Given the description of an element on the screen output the (x, y) to click on. 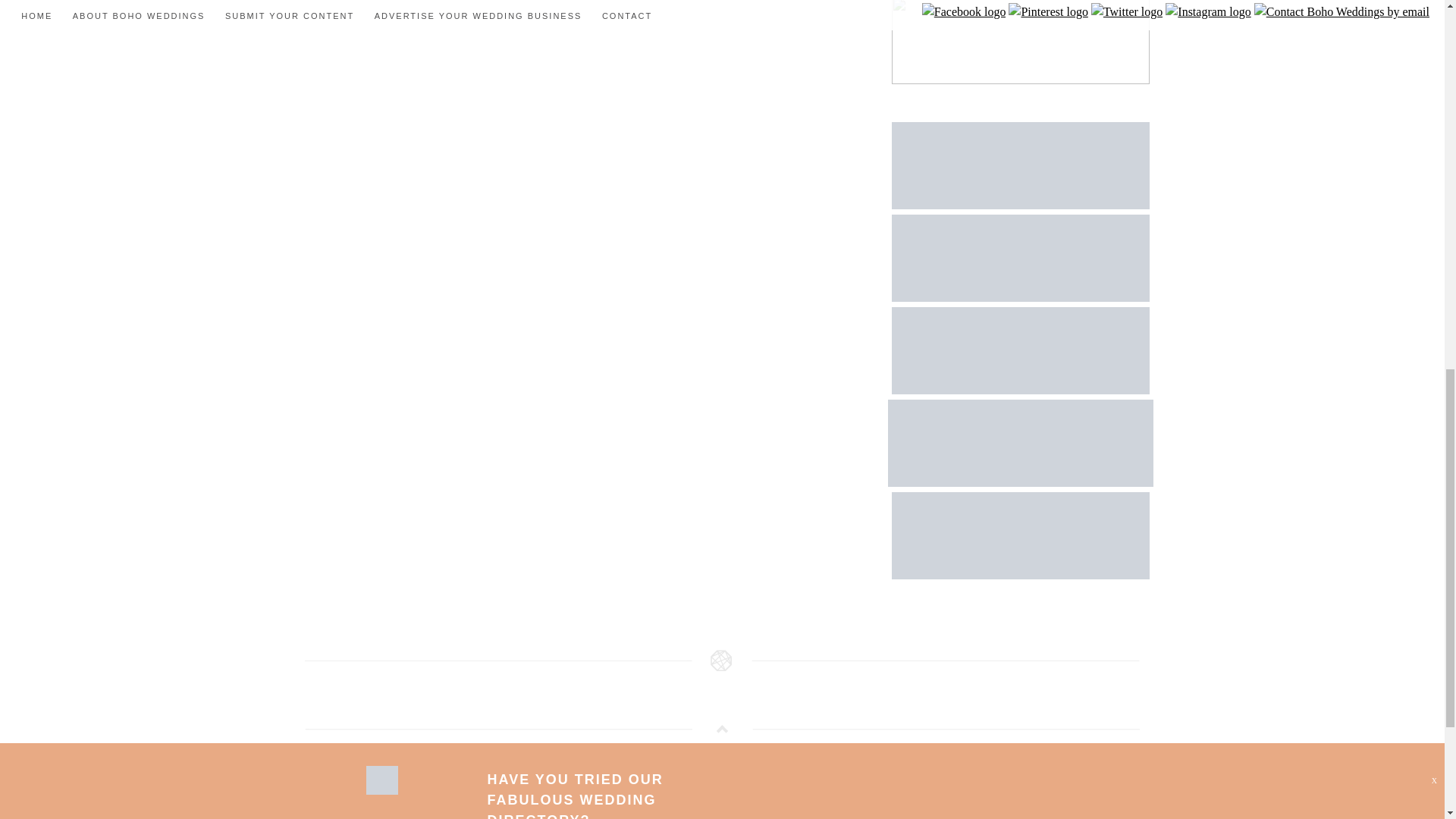
Have you tried our fabulous wedding directory? (735, 21)
Have you tried our fabulous wedding directory? (574, 4)
